Given the description of an element on the screen output the (x, y) to click on. 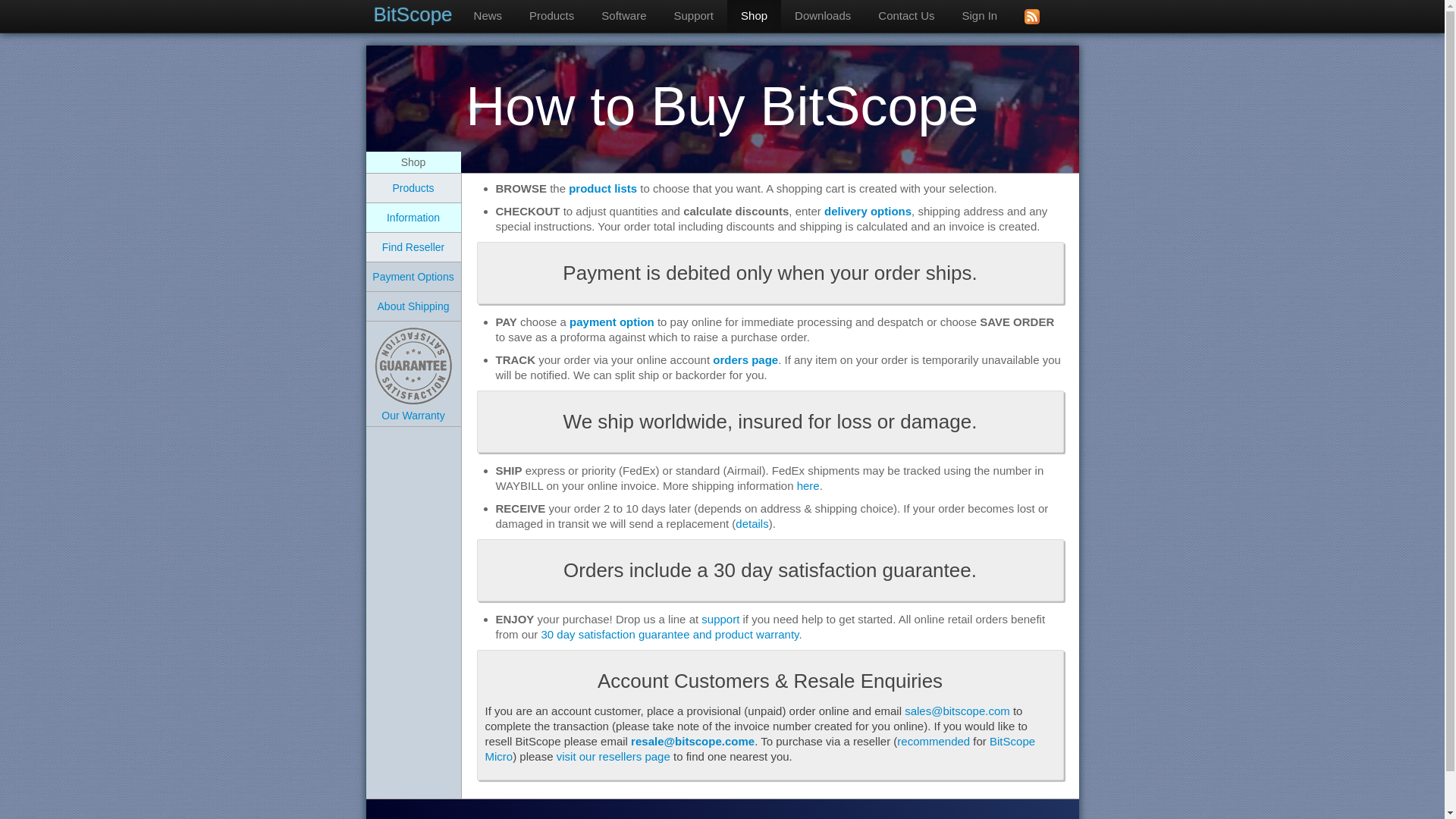
BitScope in Education. (692, 15)
Support (692, 15)
Products (551, 15)
details (751, 522)
BitScope Micro (759, 748)
product lists (603, 187)
Browse products and buy direct online. (412, 187)
Learn about warranties and refund policies. (412, 390)
Learn about warranties and refund policies. (412, 365)
Software for BitScope. (623, 15)
delivery options (867, 210)
Contact Us (905, 15)
Sign In (980, 15)
BitScope Online Home Page (416, 14)
orders page (745, 359)
